Given the description of an element on the screen output the (x, y) to click on. 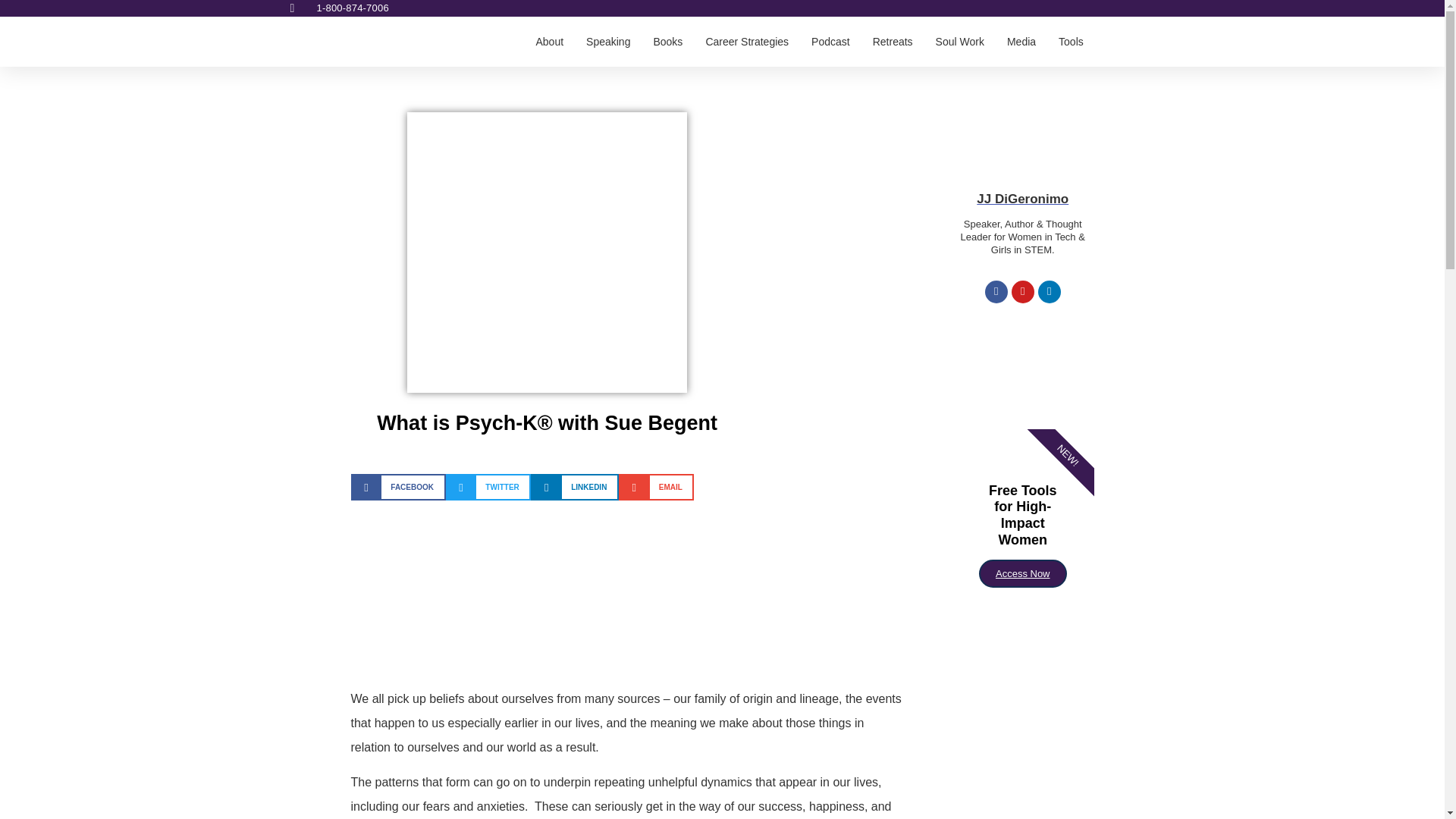
Soul Work (960, 41)
Speaking (608, 41)
Career Strategies (746, 41)
Podcast (830, 41)
Retreats (892, 41)
